Given the description of an element on the screen output the (x, y) to click on. 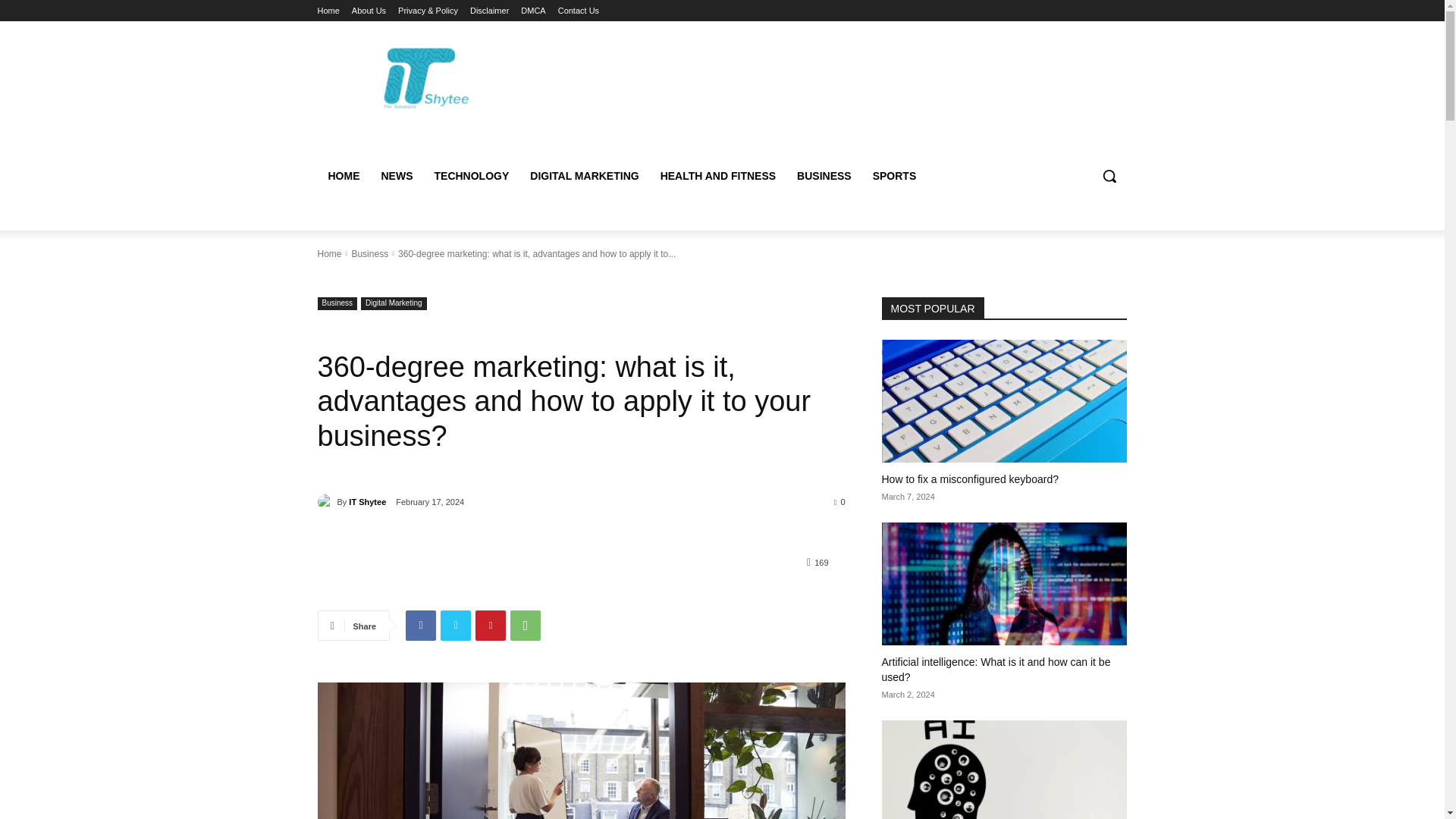
HOME (343, 176)
pexels-the-coach-space-2977547 (580, 750)
Twitter (455, 625)
IT Shytee (326, 501)
Disclaimer (489, 10)
Business (369, 253)
NEWS (396, 176)
BUSINESS (823, 176)
IT Shytee (367, 501)
Business (336, 303)
Contact Us (577, 10)
Pinterest (490, 625)
DIGITAL MARKETING (584, 176)
Home (328, 10)
View all posts in Business (369, 253)
